Given the description of an element on the screen output the (x, y) to click on. 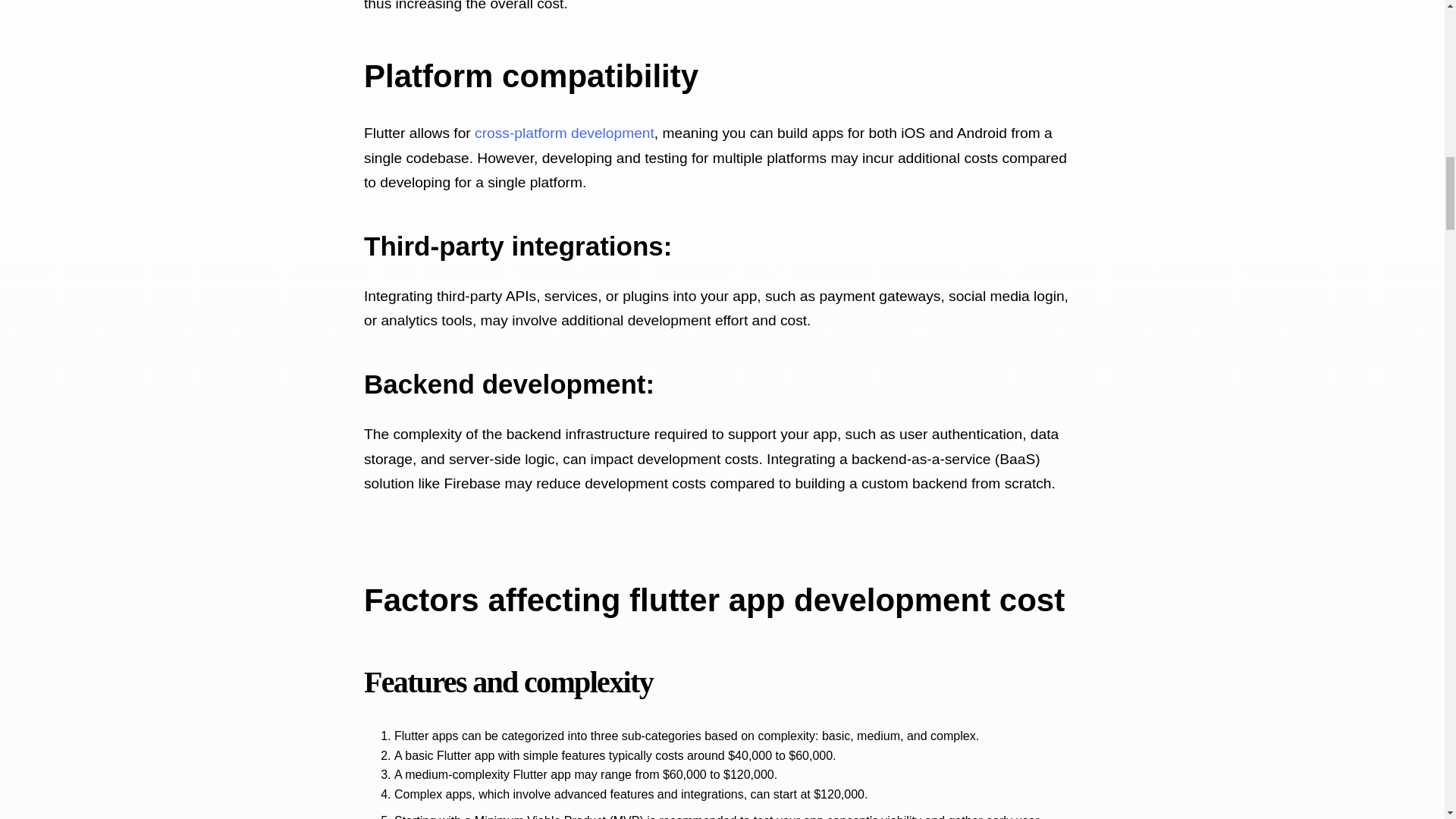
cross-platform development (563, 132)
